Given the description of an element on the screen output the (x, y) to click on. 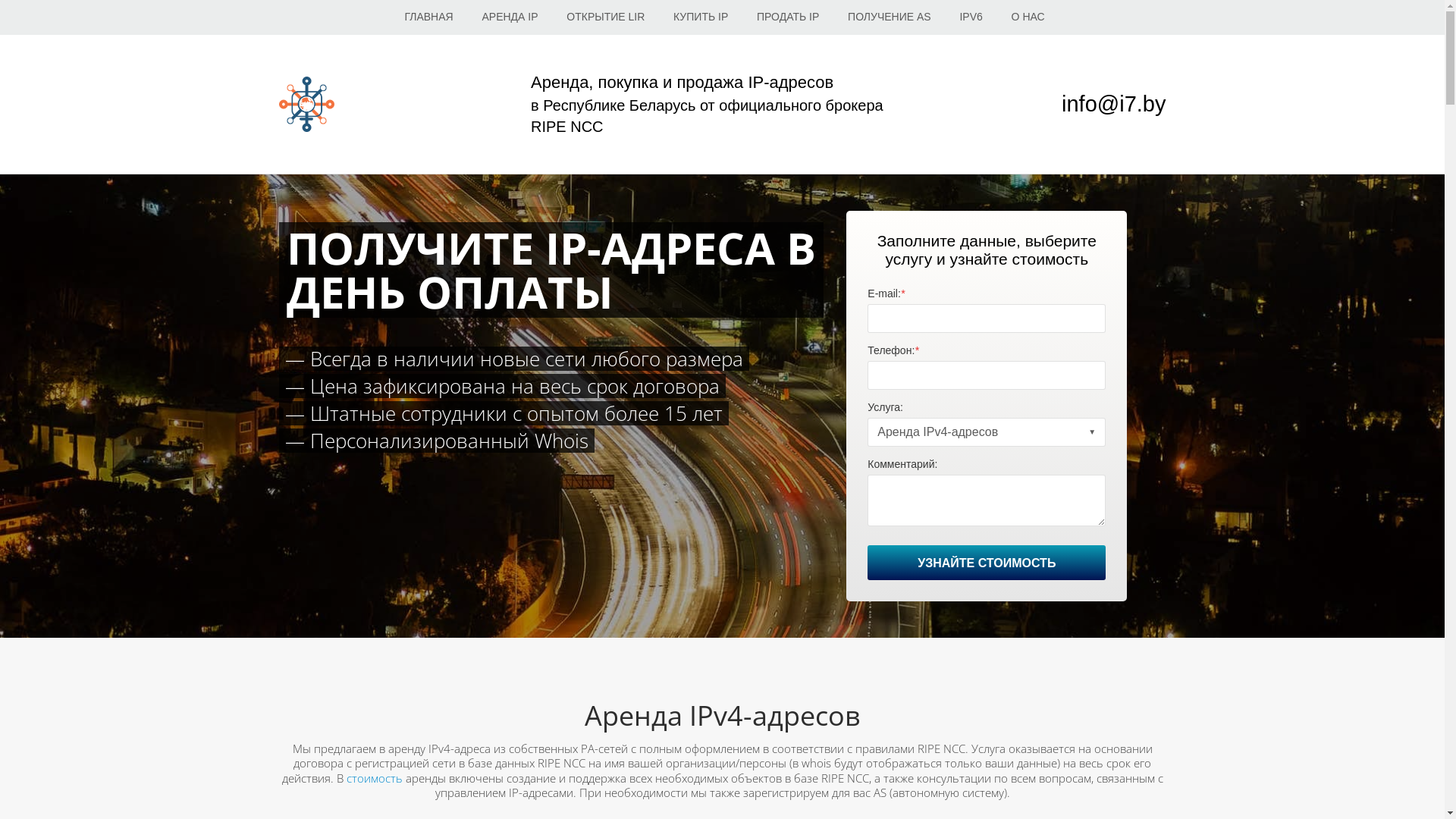
IPV6 Element type: text (970, 17)
